Given the description of an element on the screen output the (x, y) to click on. 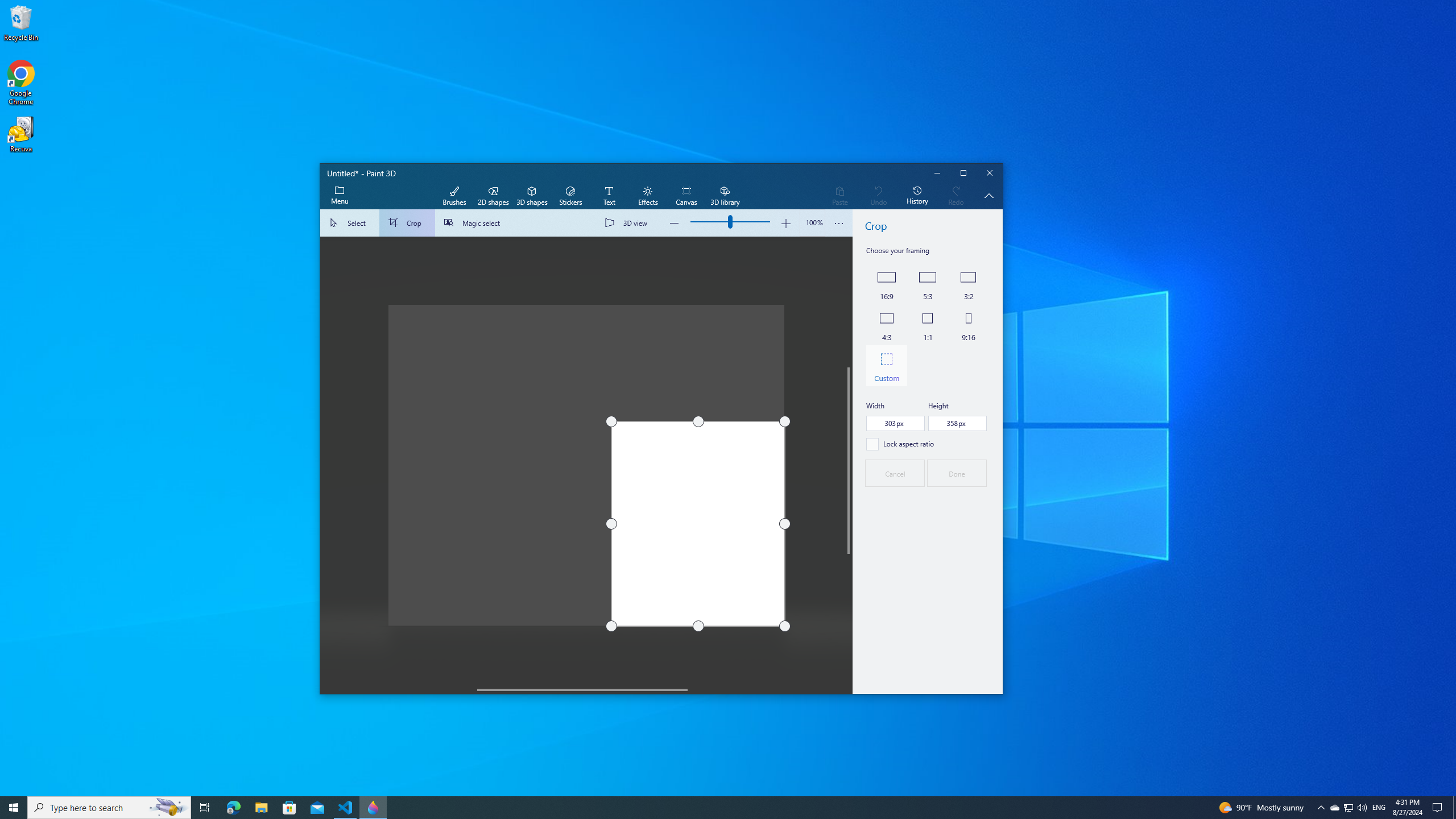
Horizontal (582, 689)
Effects (647, 195)
Tray Input Indicator - English (United States) (1378, 807)
Paste (840, 195)
Crop (407, 222)
Undo (878, 195)
Brushes (454, 195)
Done (957, 472)
Lock aspect ratio (900, 443)
Canvas (686, 195)
3D view (628, 222)
